Given the description of an element on the screen output the (x, y) to click on. 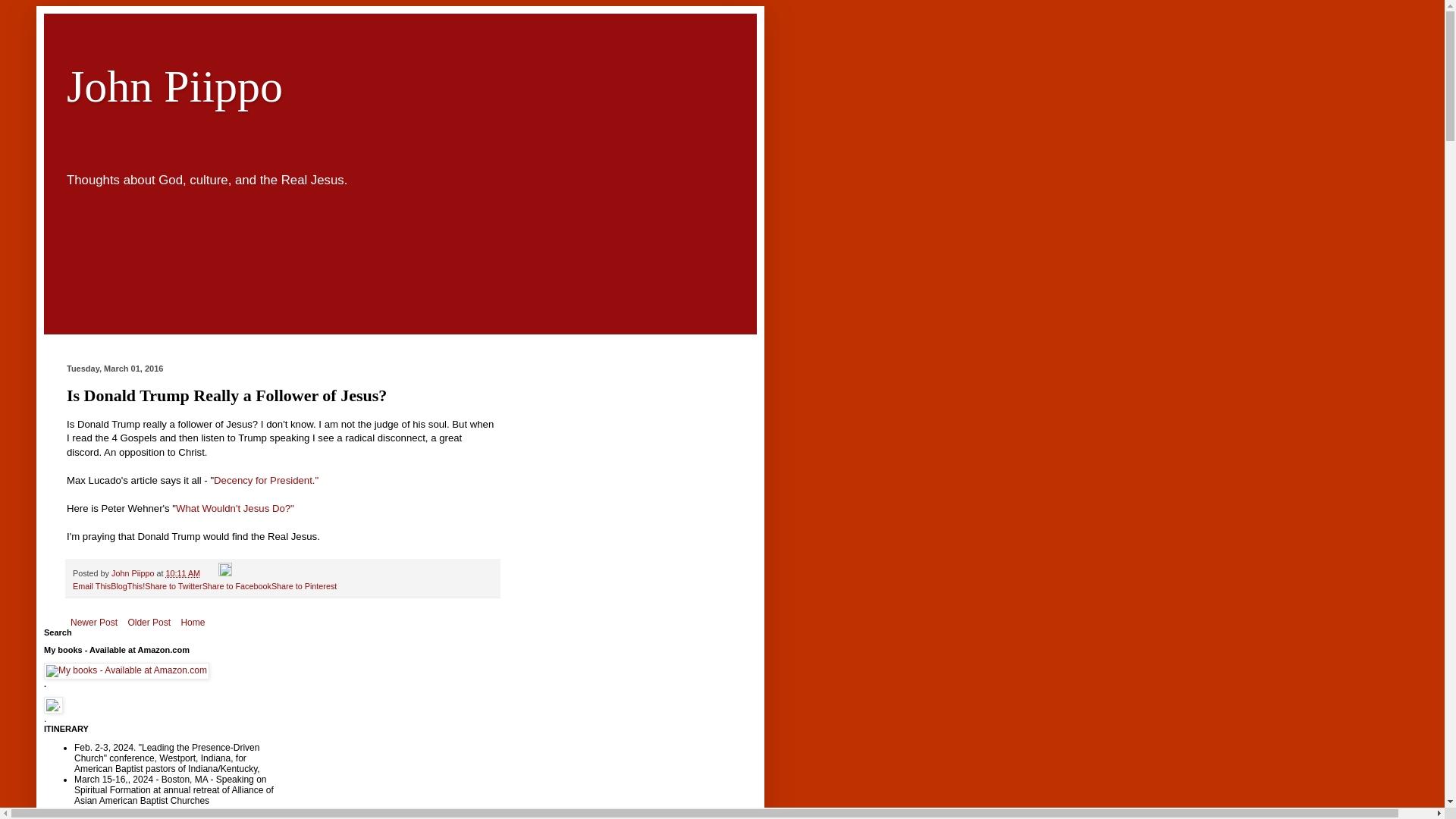
Share to Facebook (236, 585)
John Piippo (133, 573)
Email This (91, 585)
Home (192, 622)
Decency for President." (266, 480)
What Wouldn't Jesus Do?" (235, 508)
Older Post (148, 622)
Email Post (210, 573)
John Piippo (174, 86)
Share to Twitter (173, 585)
Newer Post (93, 622)
Share to Twitter (173, 585)
Share to Pinterest (303, 585)
Email This (91, 585)
Newer Post (93, 622)
